Given the description of an element on the screen output the (x, y) to click on. 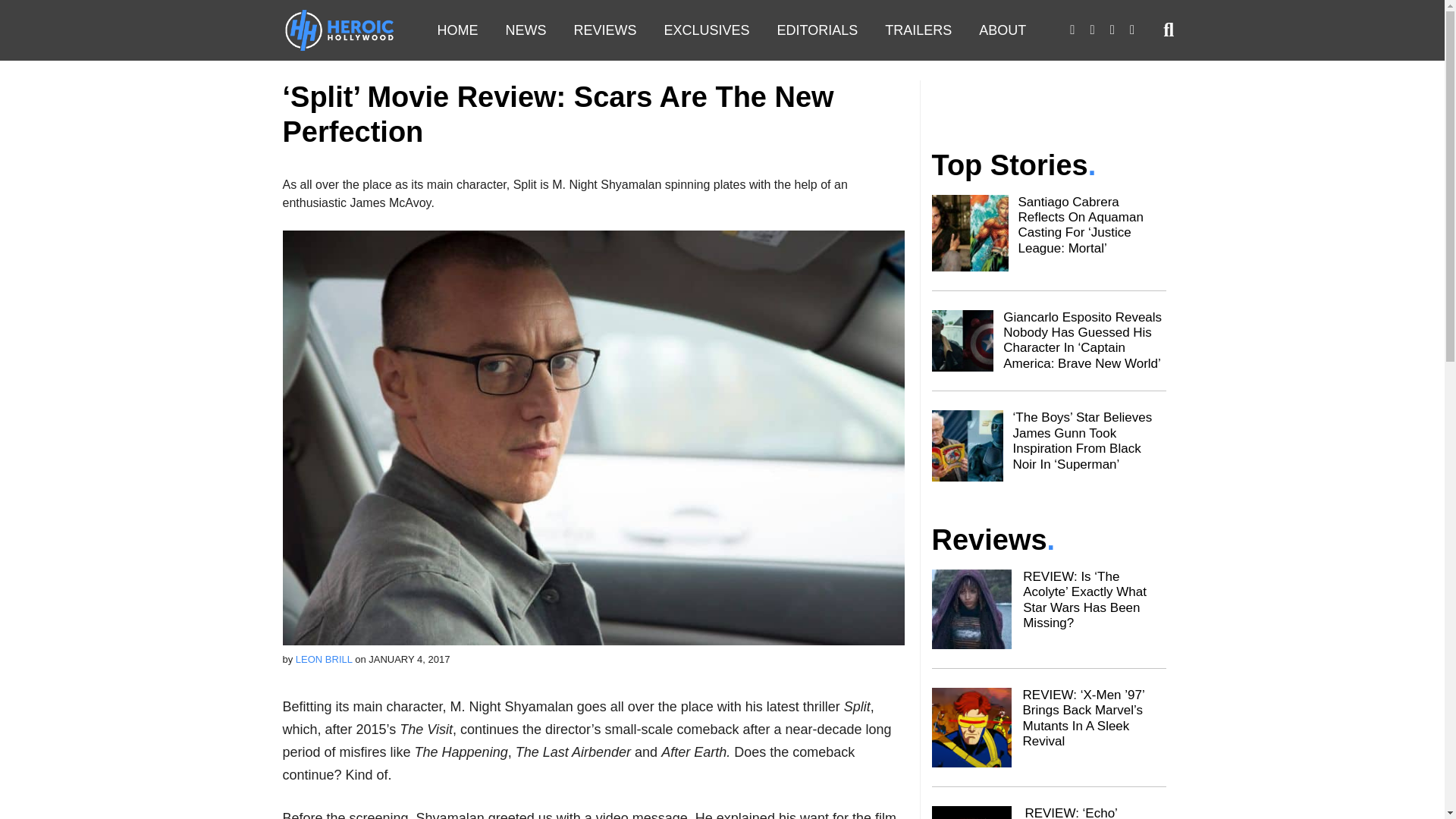
2017-01-04 (408, 659)
NEWS (525, 30)
REVIEWS (604, 30)
ABOUT (1002, 30)
EXCLUSIVES (706, 30)
TRAILERS (917, 30)
EDITORIALS (817, 30)
HOME (457, 30)
